Given the description of an element on the screen output the (x, y) to click on. 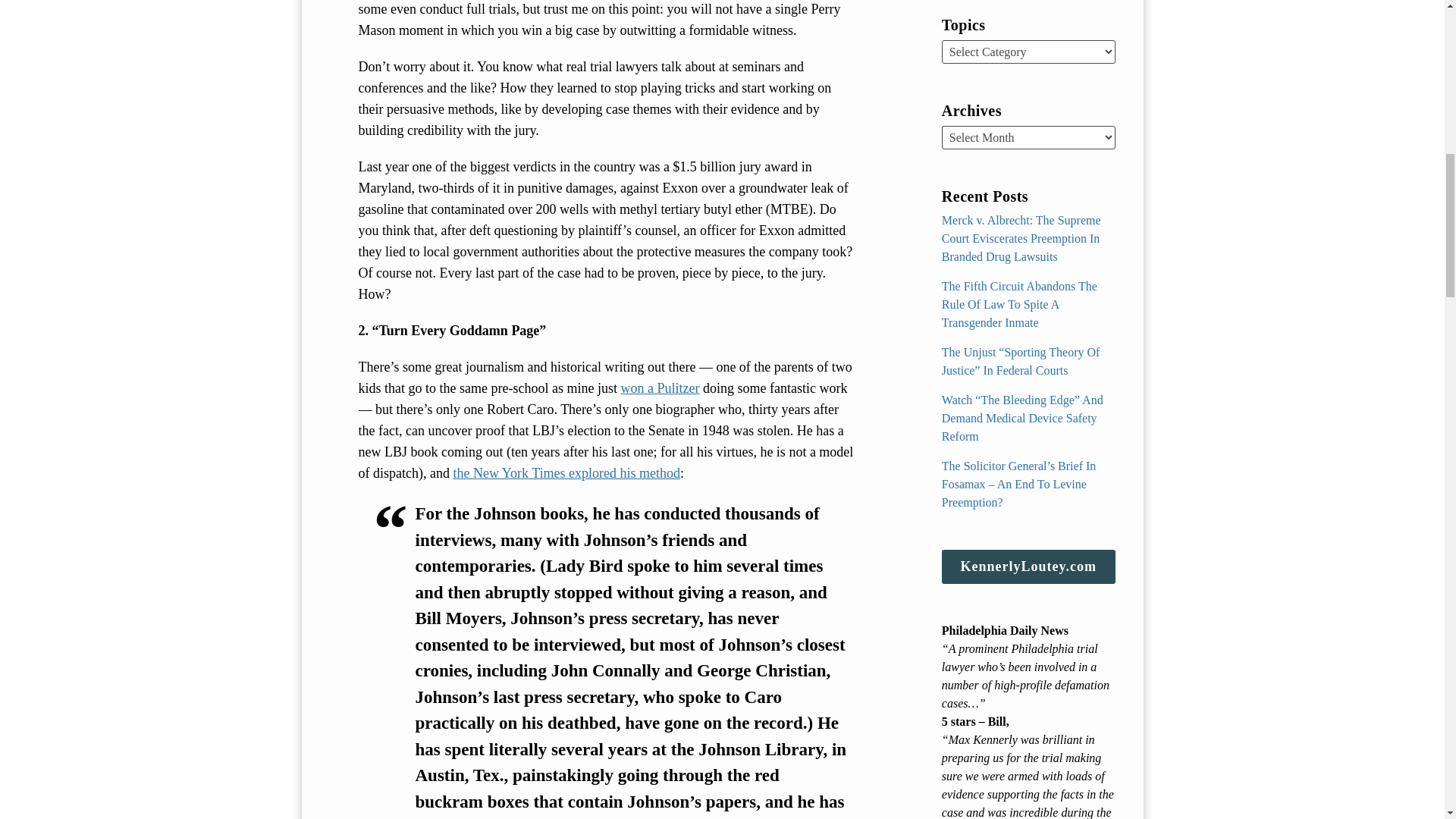
the New York Times explored his method (565, 473)
won a Pulitzer (659, 387)
